Given the description of an element on the screen output the (x, y) to click on. 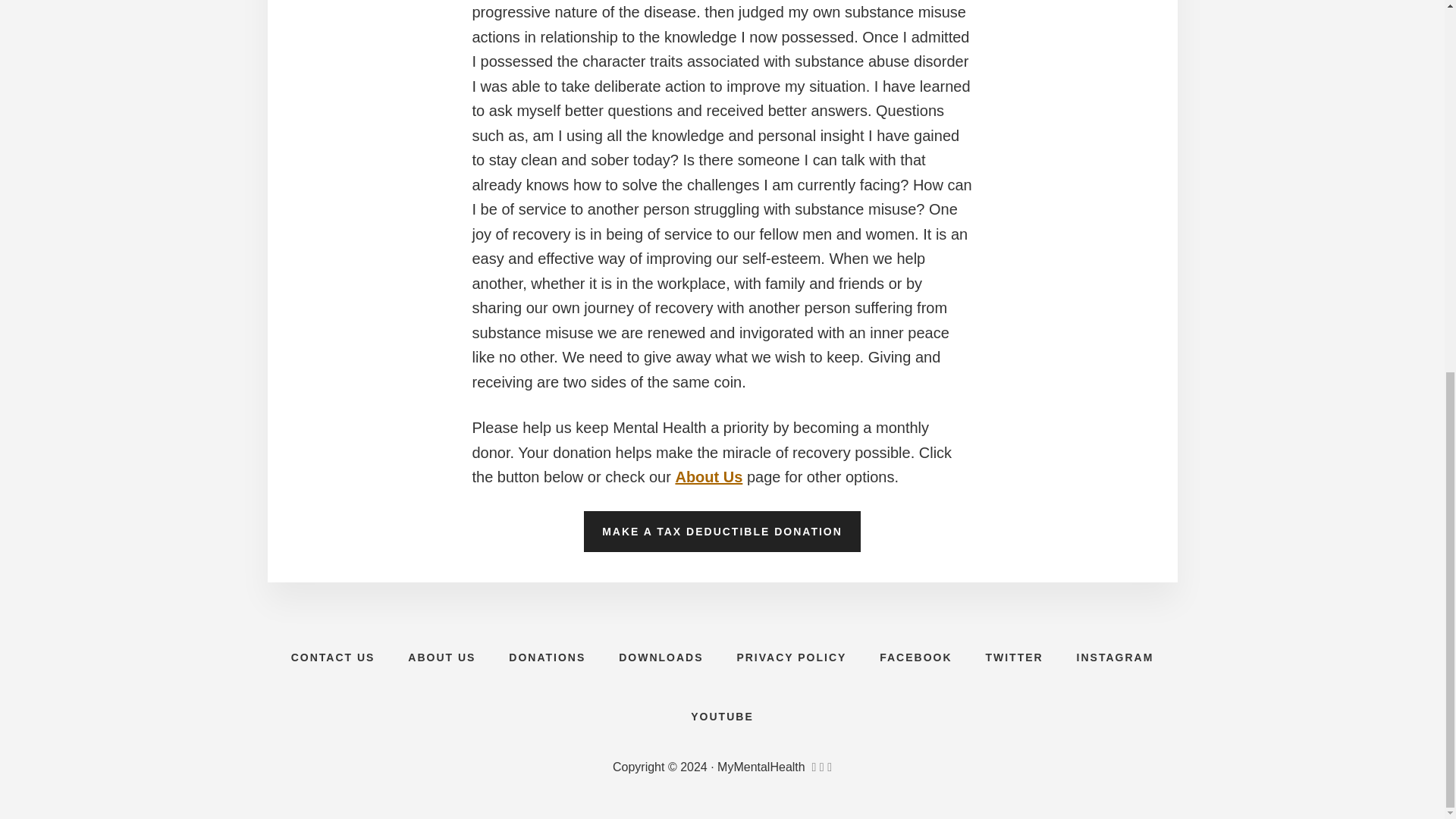
ABOUT US (441, 657)
DOWNLOADS (660, 657)
About Us (708, 476)
CONTACT US (333, 657)
DONATIONS (546, 657)
YOUTUBE (721, 716)
PRIVACY POLICY (790, 657)
TWITTER (1013, 657)
About Us (708, 476)
FACEBOOK (915, 657)
